Given the description of an element on the screen output the (x, y) to click on. 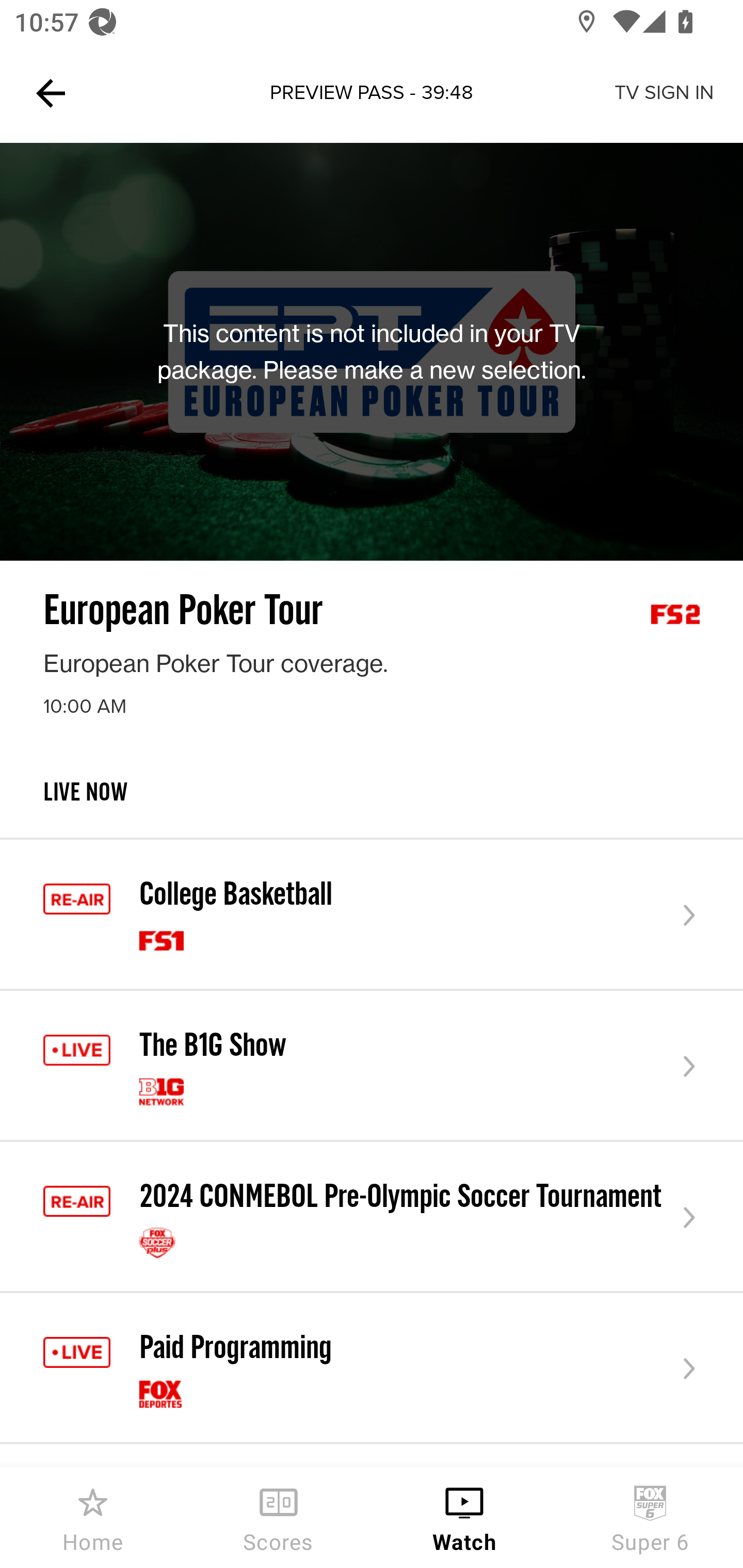
Navigate up (50, 92)
TV SIGN IN (664, 93)
LIVE NOW (371, 808)
College Basketball (371, 915)
The B1G Show (371, 1065)
2024 CONMEBOL Pre-Olympic Soccer Tournament (371, 1217)
Paid Programming (371, 1368)
Home (92, 1517)
Scores (278, 1517)
Super 6 (650, 1517)
